Given the description of an element on the screen output the (x, y) to click on. 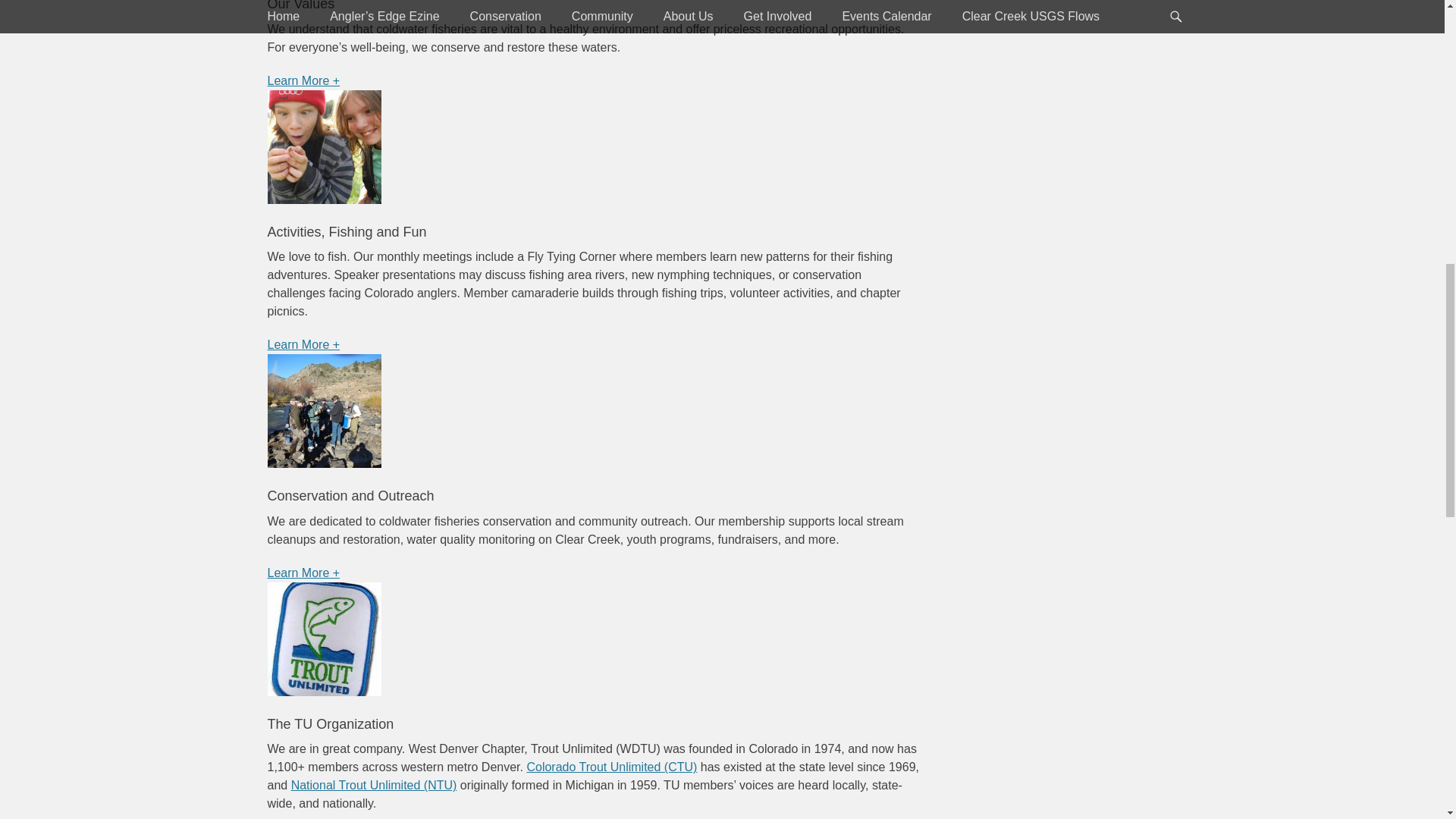
www.tu.org (374, 784)
www.coloradotu.org (611, 766)
